Given the description of an element on the screen output the (x, y) to click on. 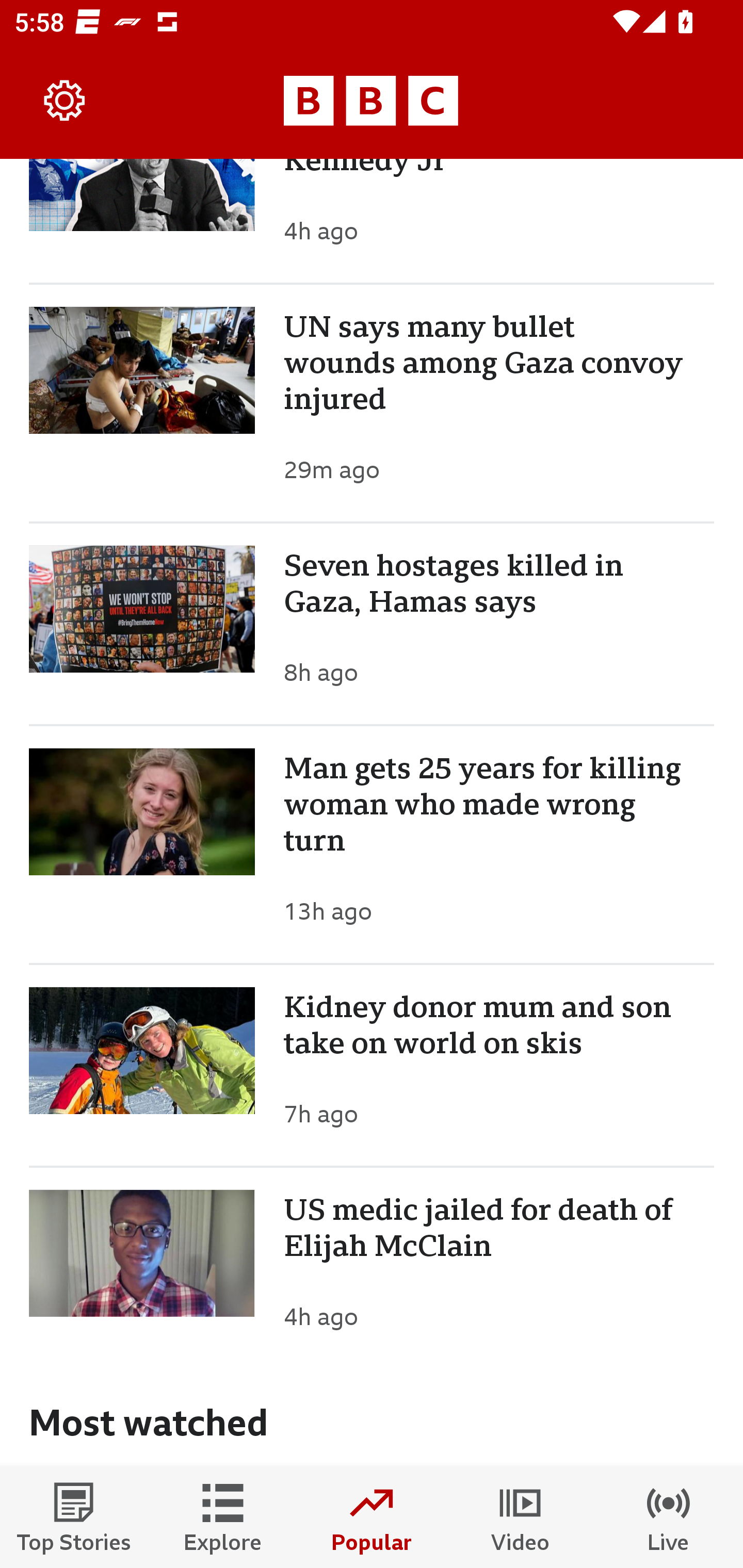
Settings (64, 100)
Top Stories (74, 1517)
Explore (222, 1517)
Video (519, 1517)
Live (668, 1517)
